Given the description of an element on the screen output the (x, y) to click on. 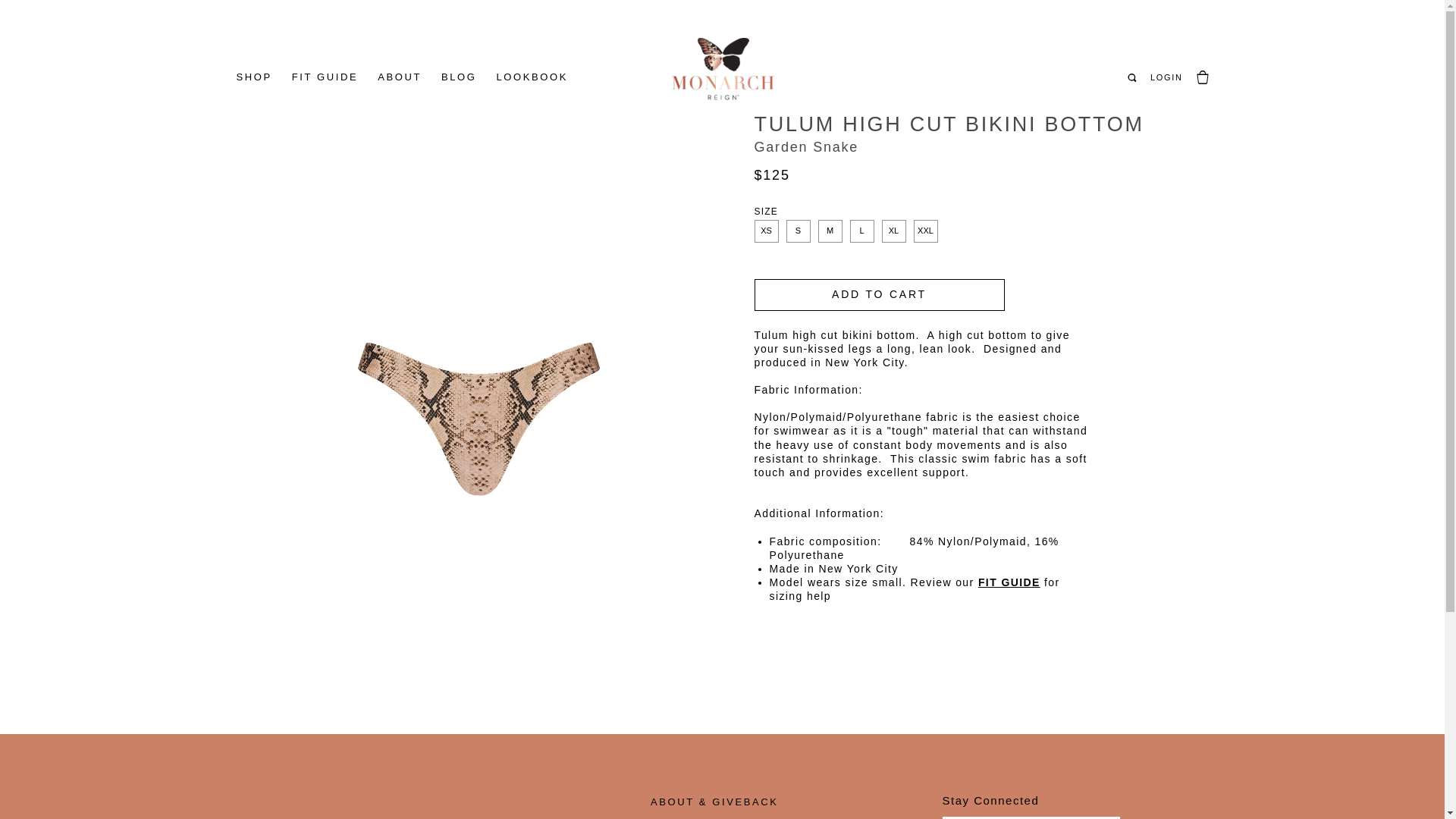
LOGIN (1166, 77)
ADD TO CART (879, 295)
MONARCH REIGN FIT GUIDE (1009, 582)
ABOUT (399, 77)
Monarch Reign (722, 68)
M (828, 231)
XXL (924, 231)
FIT GUIDE (1009, 582)
XL (892, 231)
L (860, 231)
